Given the description of an element on the screen output the (x, y) to click on. 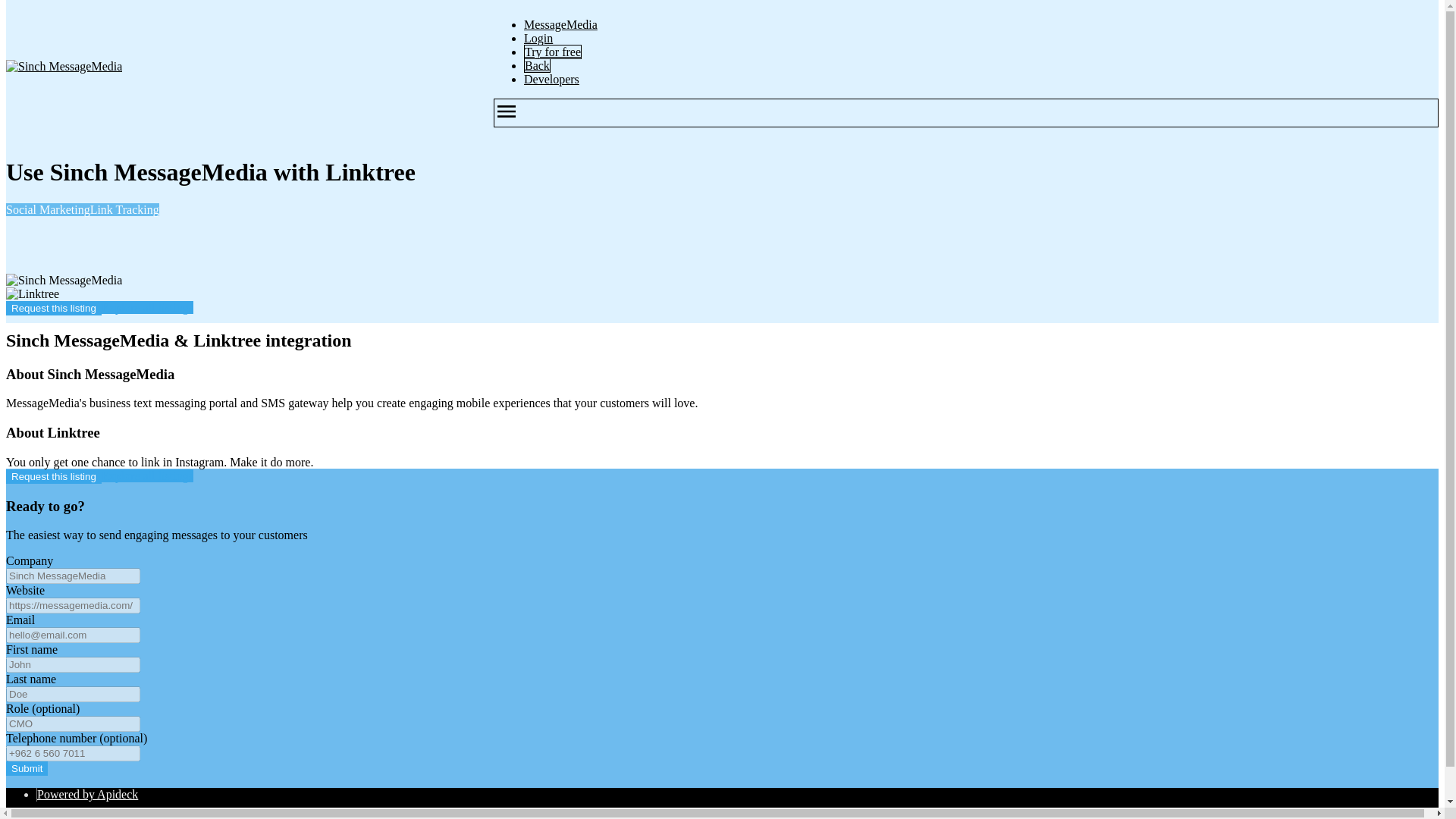
Catalog (56, 816)
Back (537, 65)
Try for free (552, 51)
Submit (26, 768)
Explore all listings (147, 475)
Explore all listings (147, 307)
Request this listing (53, 308)
Sinch MessageMedia (63, 66)
Request this listing (53, 476)
Sinch MessageMedia (63, 280)
MessageMedia (560, 24)
Linktree (32, 294)
Powered by Apideck (87, 793)
Developers (551, 78)
Login (538, 38)
